Given the description of an element on the screen output the (x, y) to click on. 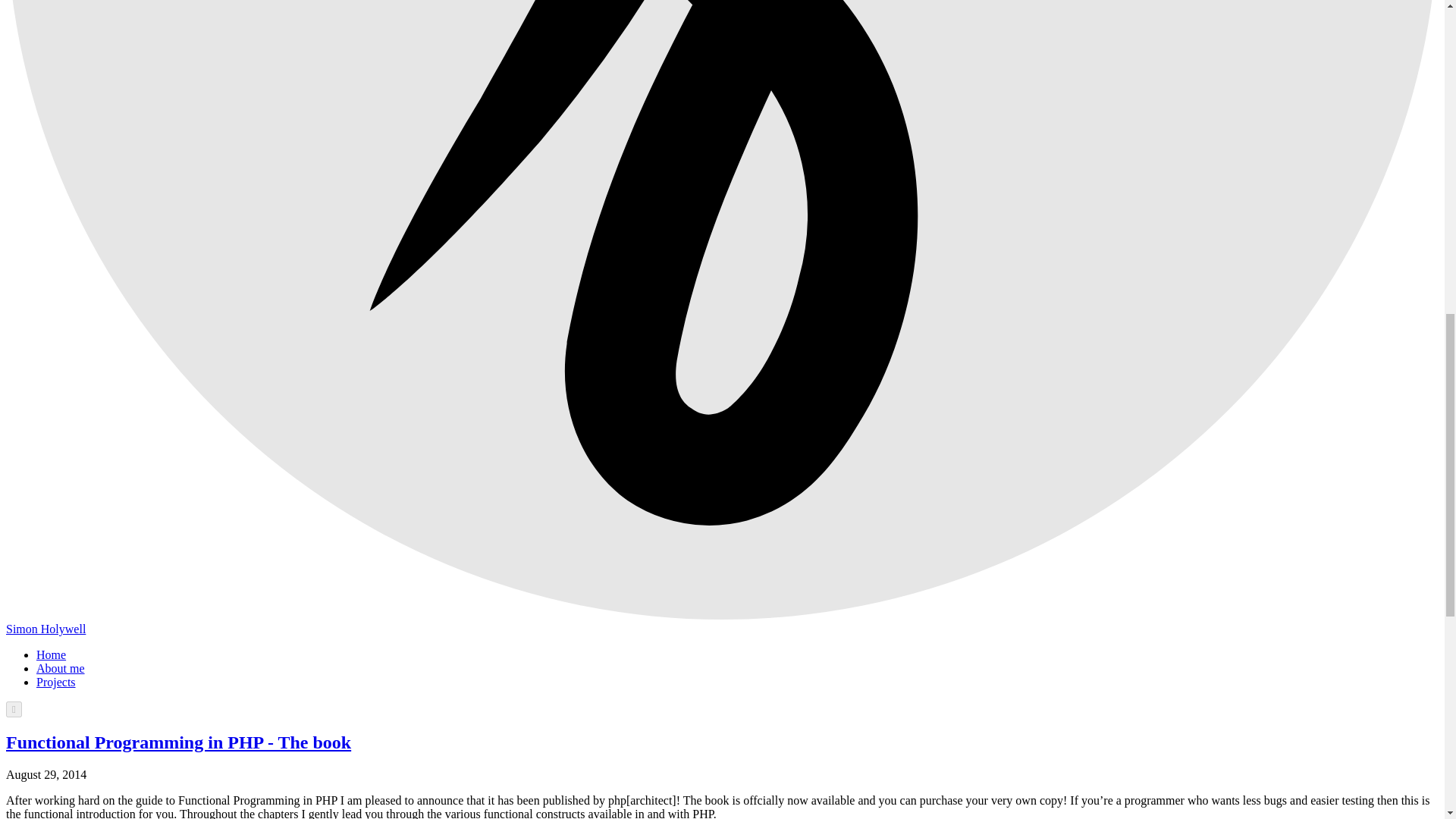
Toggle between the light and dark themes of this site (13, 709)
Functional Programming in PHP - The book (177, 742)
Home (50, 654)
About me (60, 667)
Simon Holywell (45, 628)
Projects (55, 681)
